Given the description of an element on the screen output the (x, y) to click on. 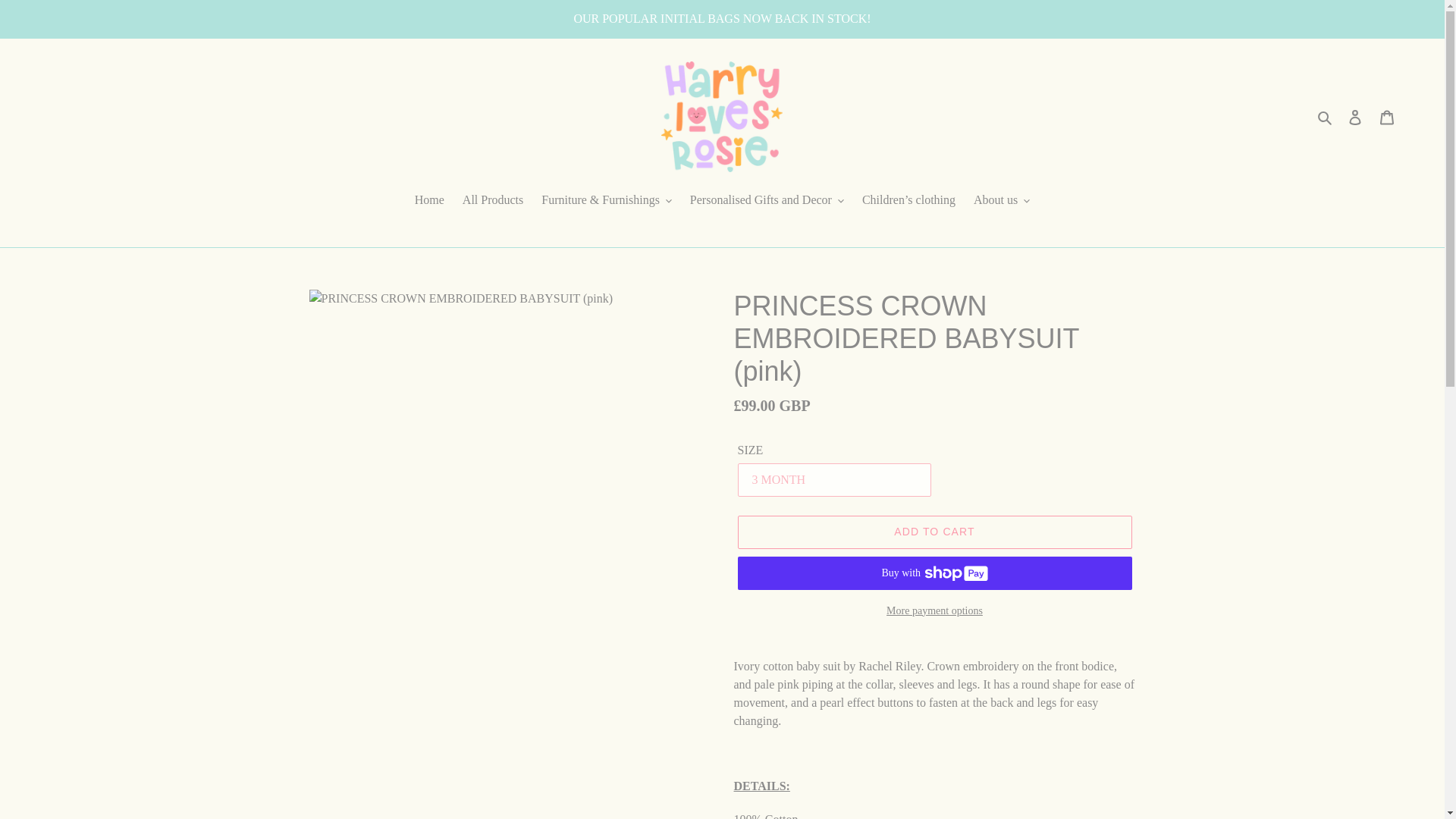
All Products (492, 200)
Home (429, 200)
Log in (1355, 116)
OUR POPULAR INITIAL BAGS NOW BACK IN STOCK! (721, 18)
Personalised Gifts and Decor (766, 200)
Search (1326, 116)
Cart (1387, 116)
